Given the description of an element on the screen output the (x, y) to click on. 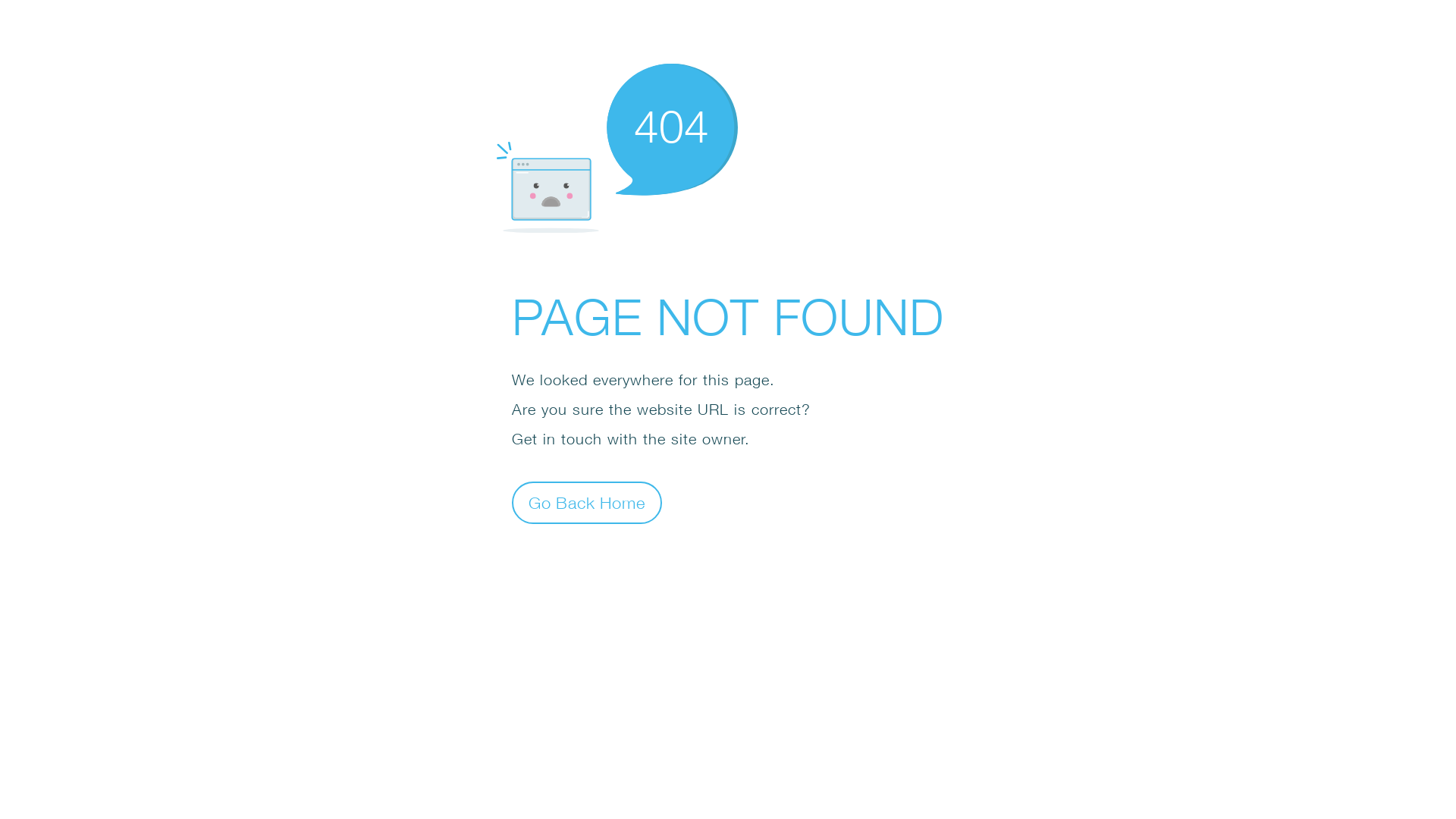
Go Back Home Element type: text (586, 502)
